Given the description of an element on the screen output the (x, y) to click on. 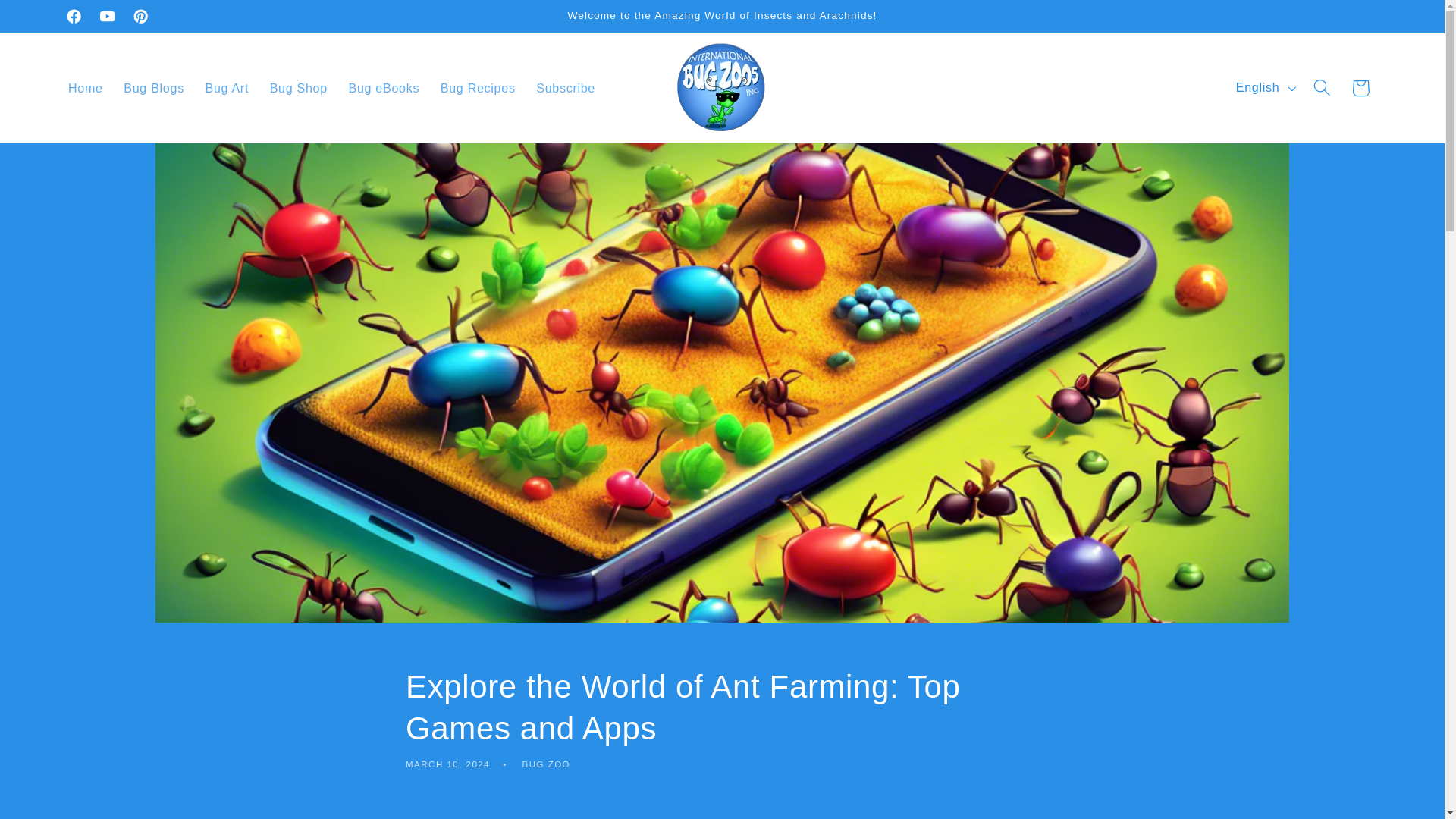
Cart (1360, 87)
Pinterest (140, 16)
Bug Shop (298, 87)
Bug eBooks (383, 87)
Bug Blogs (154, 87)
Home (85, 87)
Bug Recipes (477, 87)
Subscribe (565, 87)
English (1264, 87)
